Given the description of an element on the screen output the (x, y) to click on. 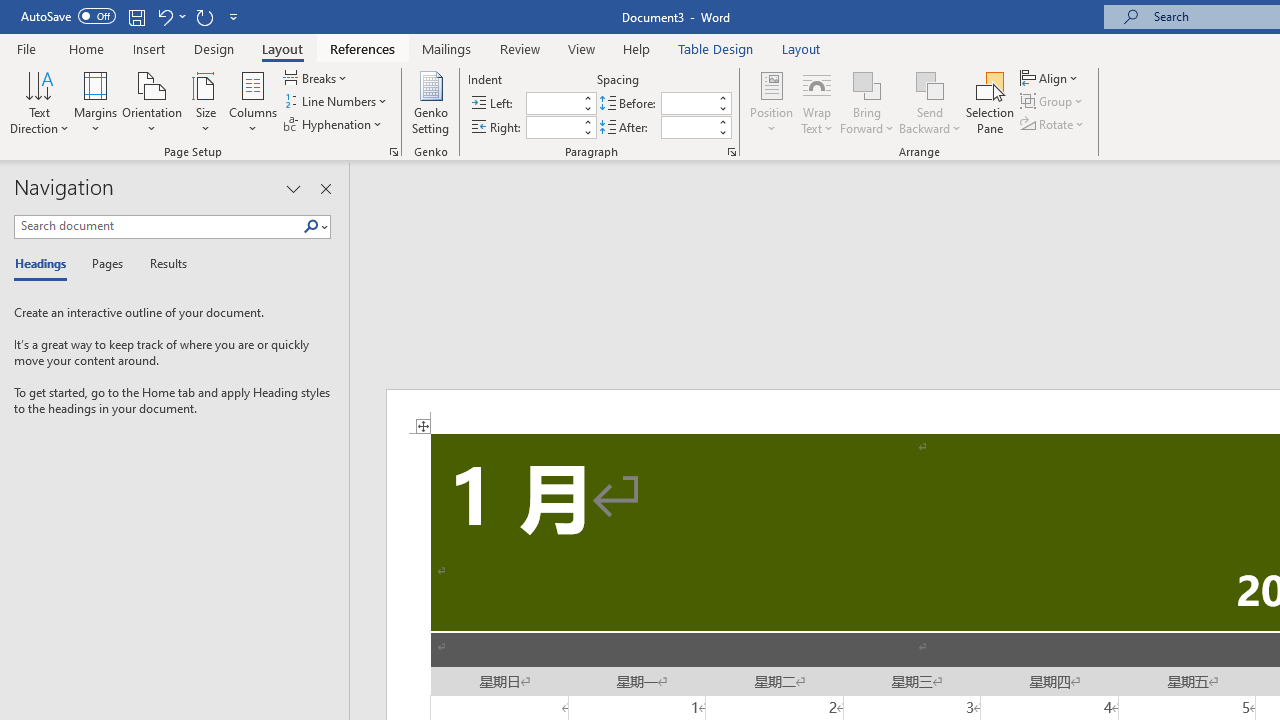
Undo Insert Row Below (164, 15)
System (10, 11)
Text Direction (39, 102)
Save (136, 15)
Review (520, 48)
Home (86, 48)
Close pane (325, 188)
Repeat Doc Close (204, 15)
Class: NetUIImage (311, 226)
Send Backward (930, 84)
Quick Access Toolbar (131, 16)
View (582, 48)
Undo Insert Row Below (170, 15)
Insert (149, 48)
